Given the description of an element on the screen output the (x, y) to click on. 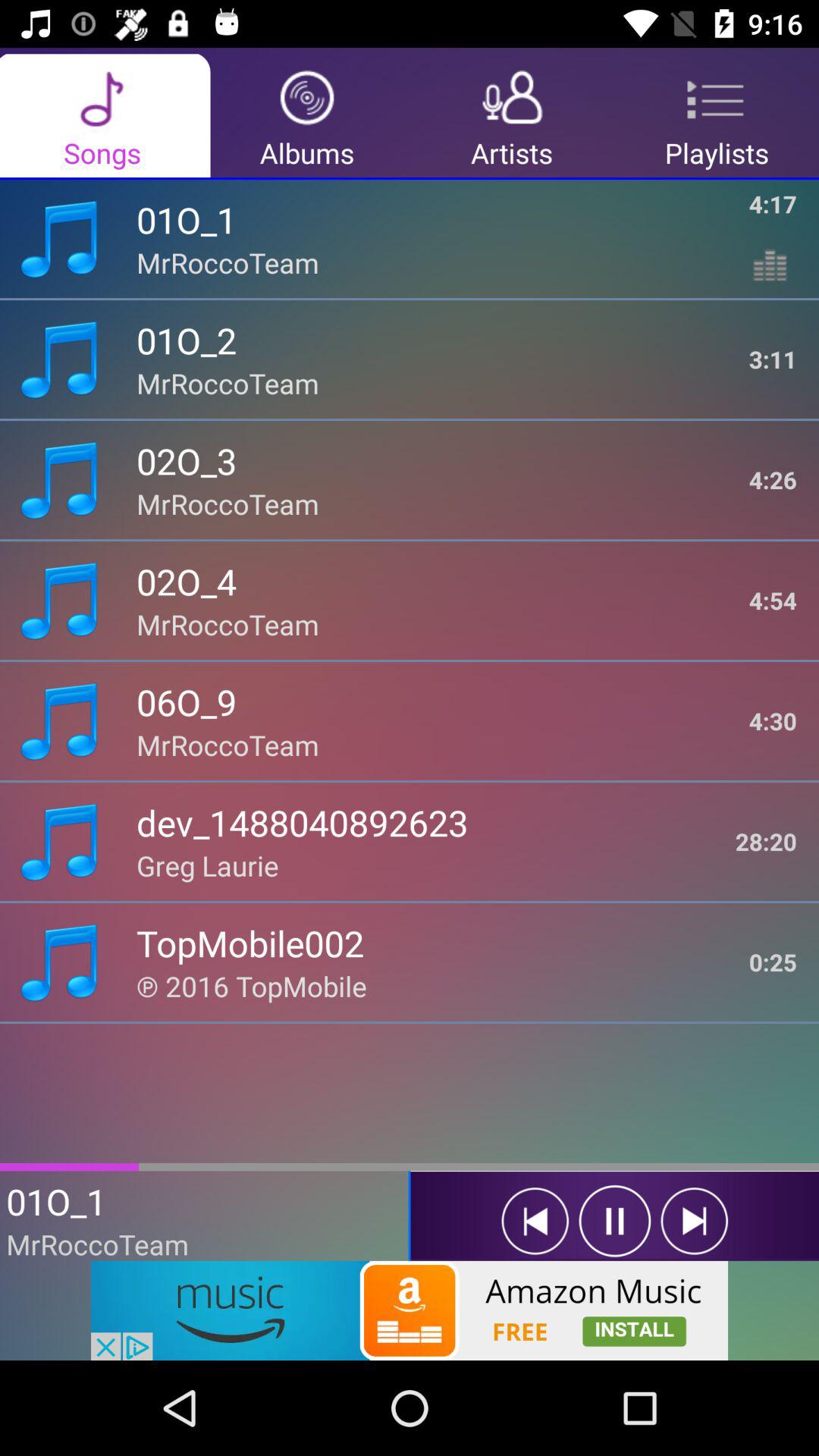
go to previous (535, 1220)
